Given the description of an element on the screen output the (x, y) to click on. 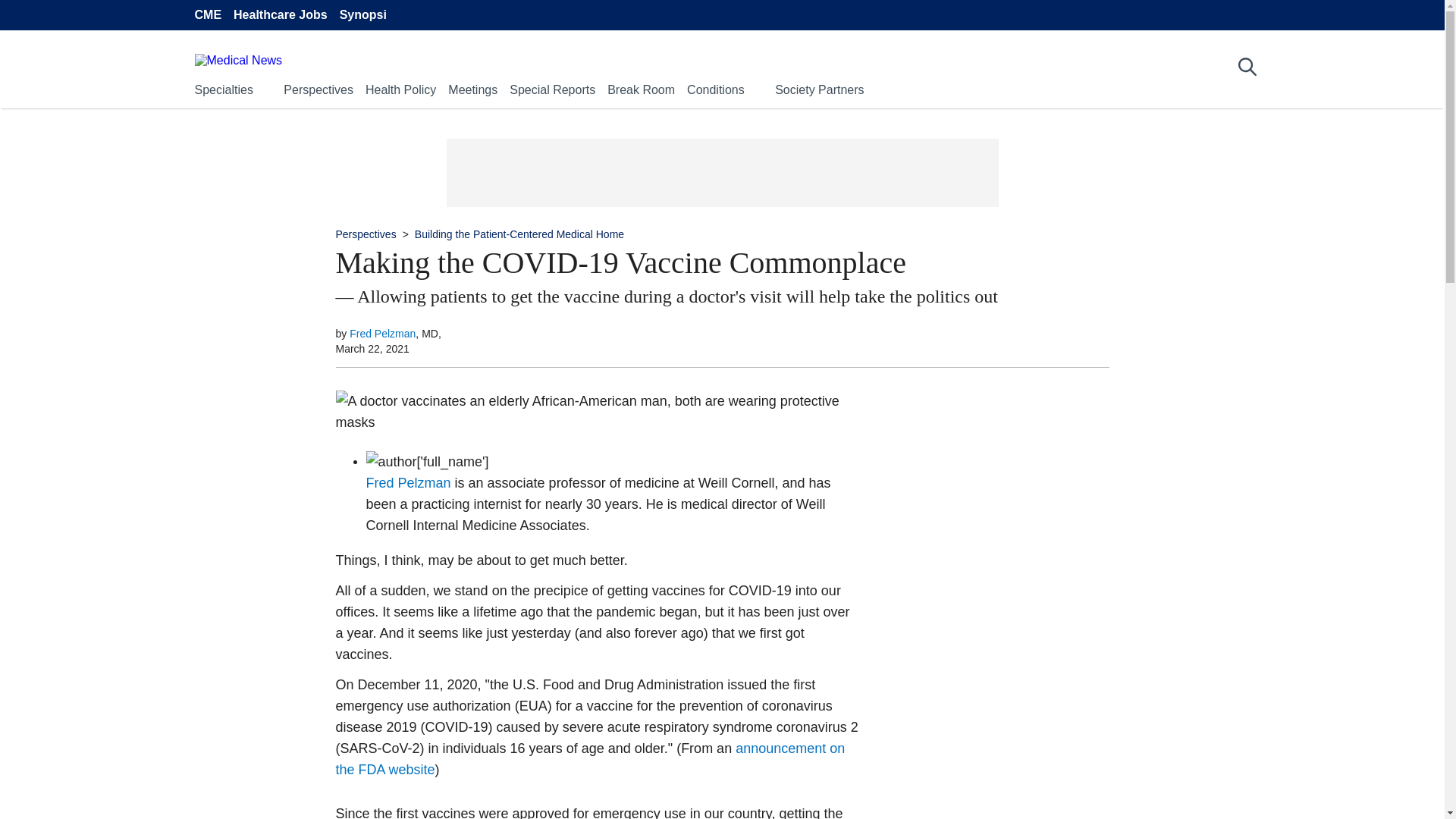
Specialties (222, 89)
Synopsi (363, 15)
CME (207, 15)
Healthcare Jobs (279, 15)
